Given the description of an element on the screen output the (x, y) to click on. 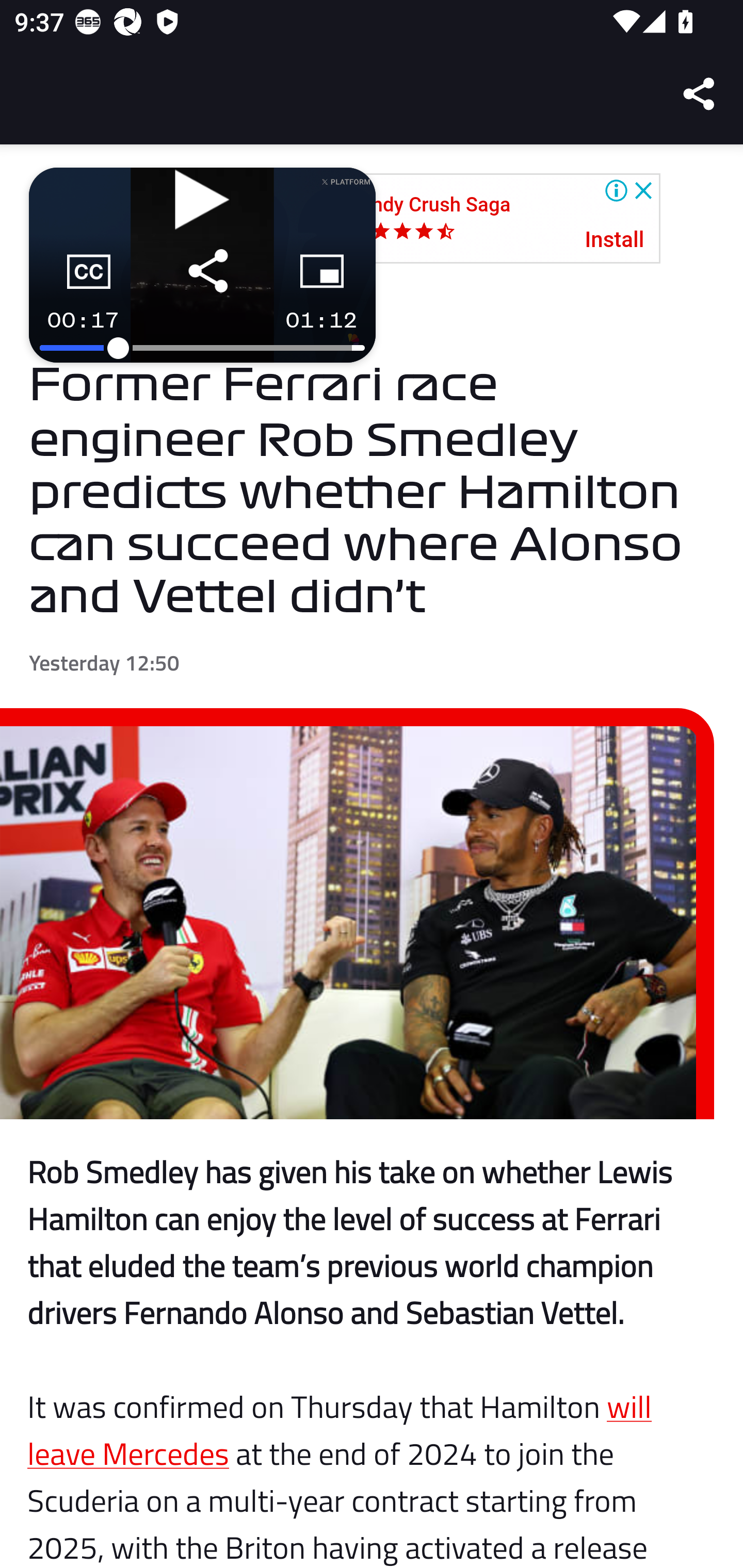
Share (699, 93)
Install (614, 240)
